Given the description of an element on the screen output the (x, y) to click on. 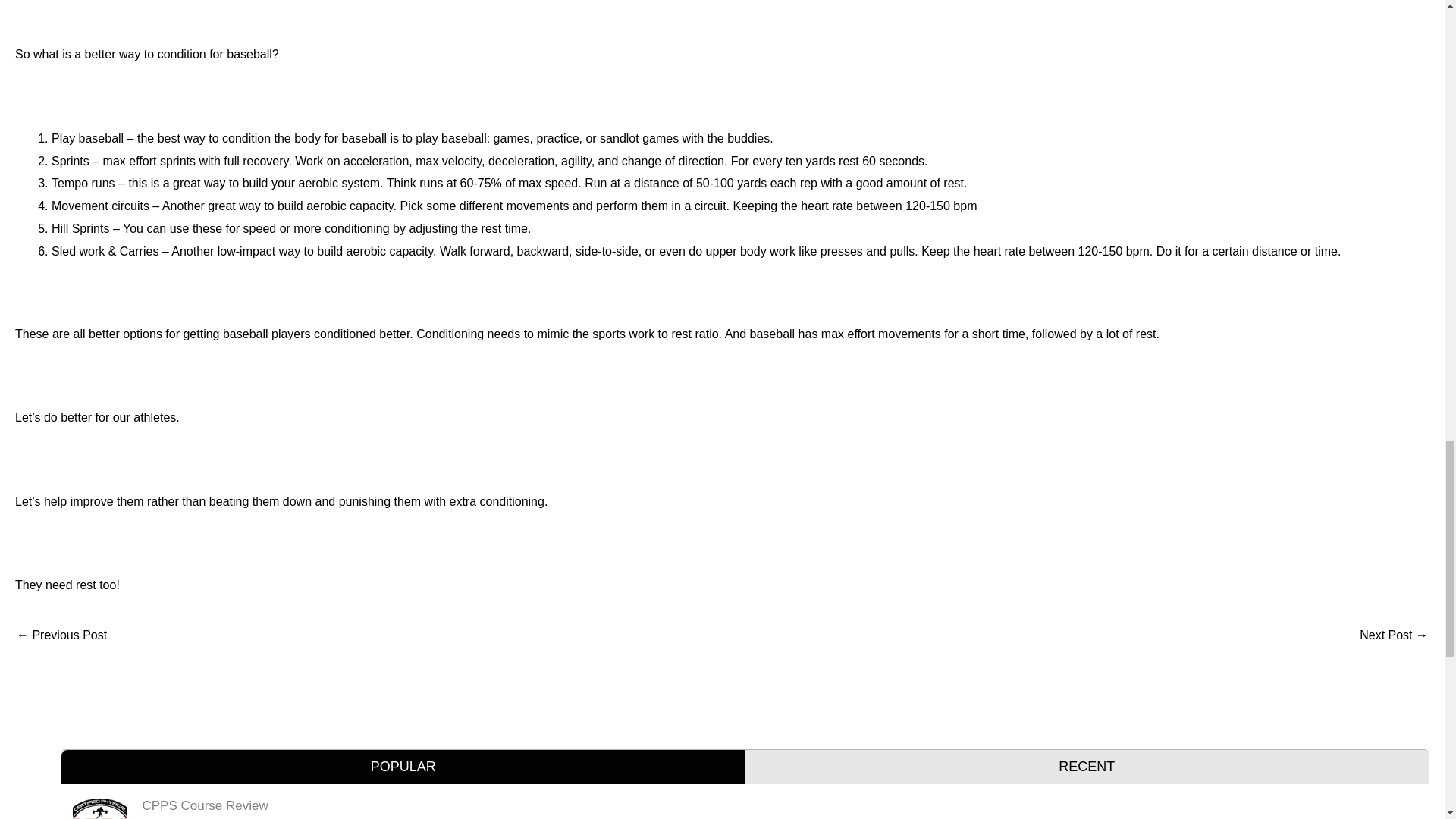
5 Moves To Improve Shoulder Health (61, 636)
RECENT (1086, 766)
POPULAR (1393, 636)
